Given the description of an element on the screen output the (x, y) to click on. 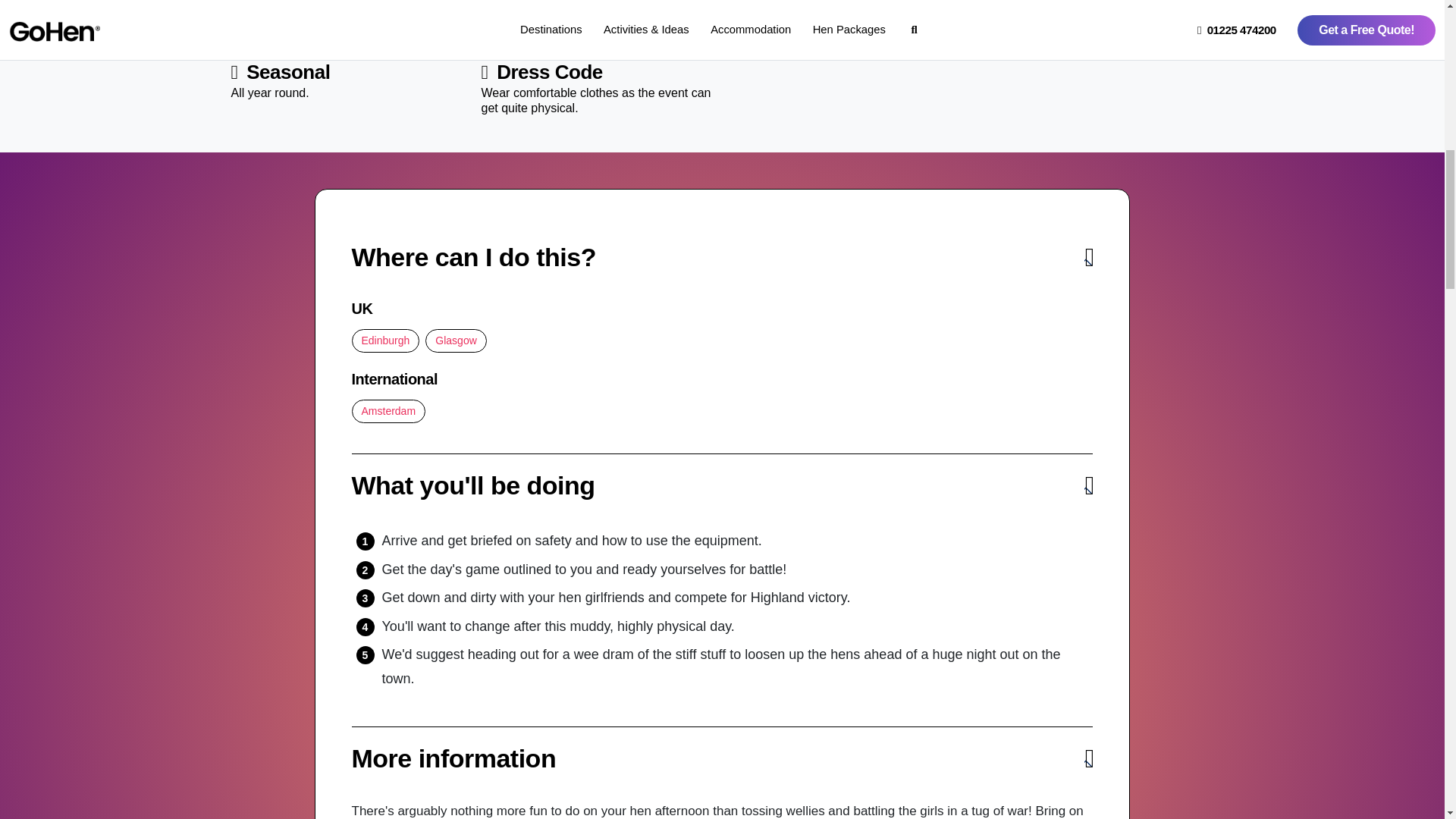
What you'll be doing (722, 485)
Edinburgh (386, 340)
More information (722, 758)
Glasgow (455, 340)
Where can I do this? (722, 257)
Amsterdam (389, 411)
